Given the description of an element on the screen output the (x, y) to click on. 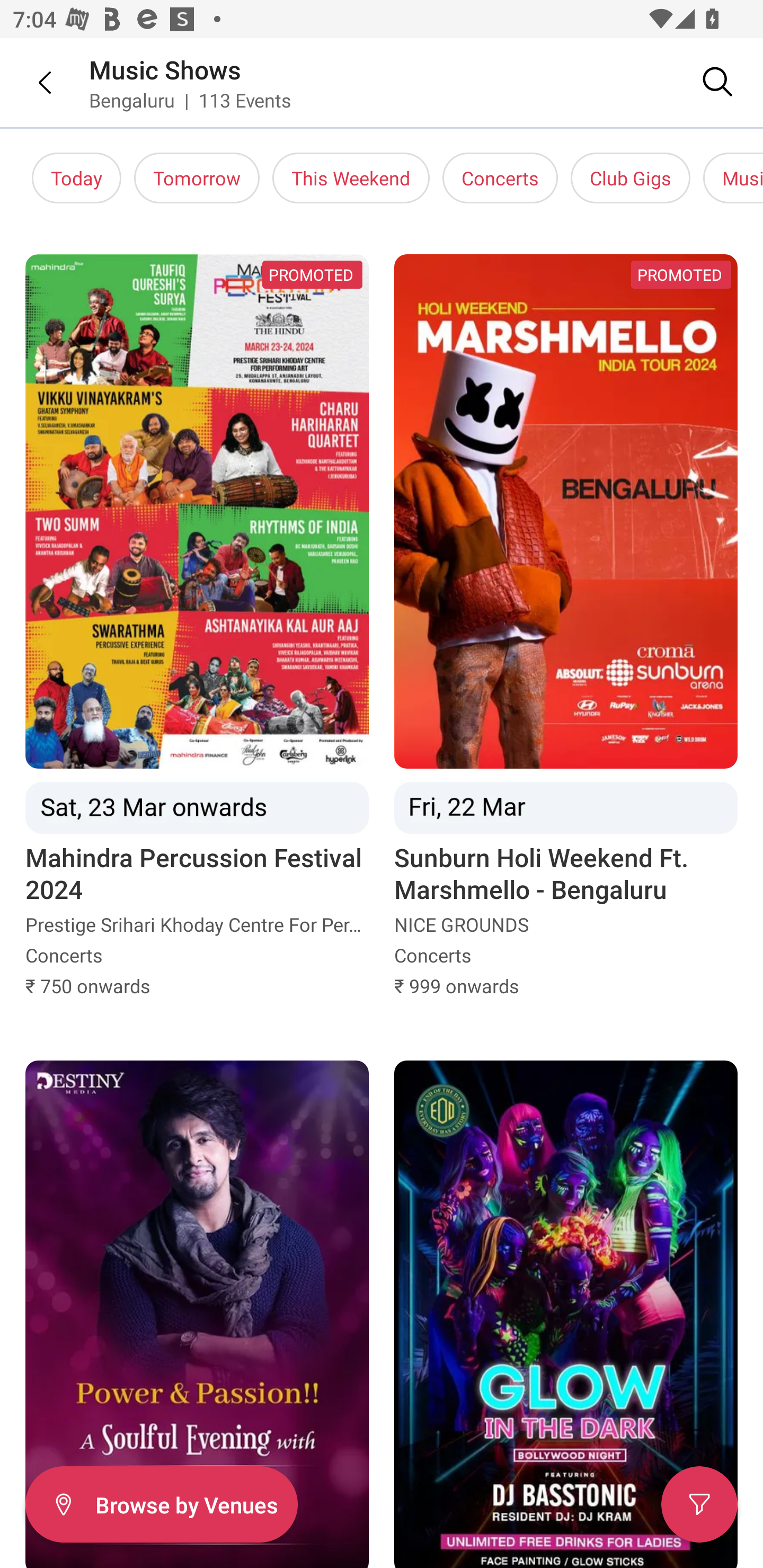
Back (31, 82)
Music Shows (165, 68)
Bengaluru  |  113 Events (190, 99)
Today (76, 177)
Tomorrow (196, 177)
This Weekend (350, 177)
Concerts (499, 177)
Club Gigs (630, 177)
Filter Browse by Venues (161, 1504)
Filter (699, 1504)
